Given the description of an element on the screen output the (x, y) to click on. 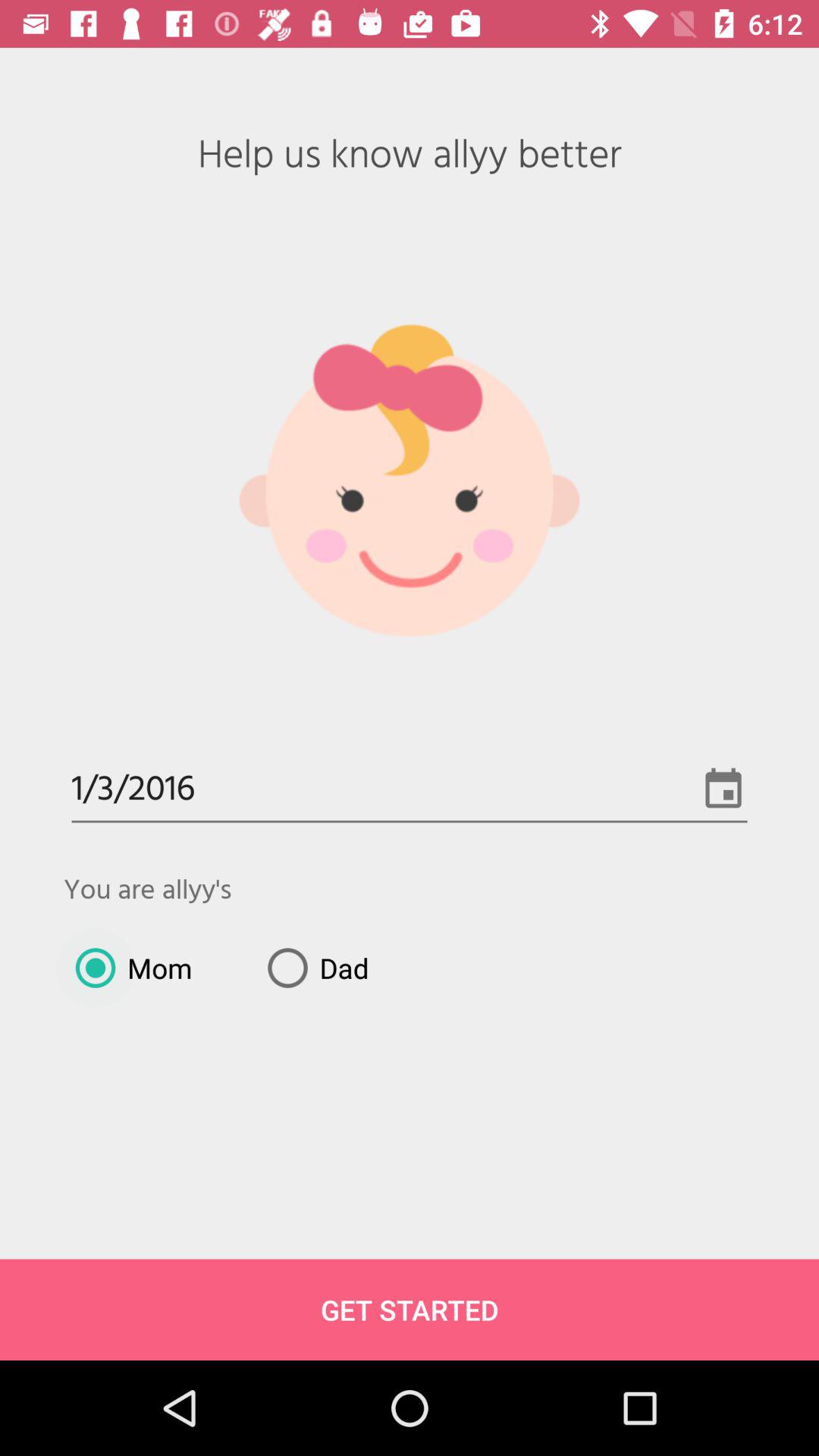
launch icon next to the dad item (127, 967)
